Given the description of an element on the screen output the (x, y) to click on. 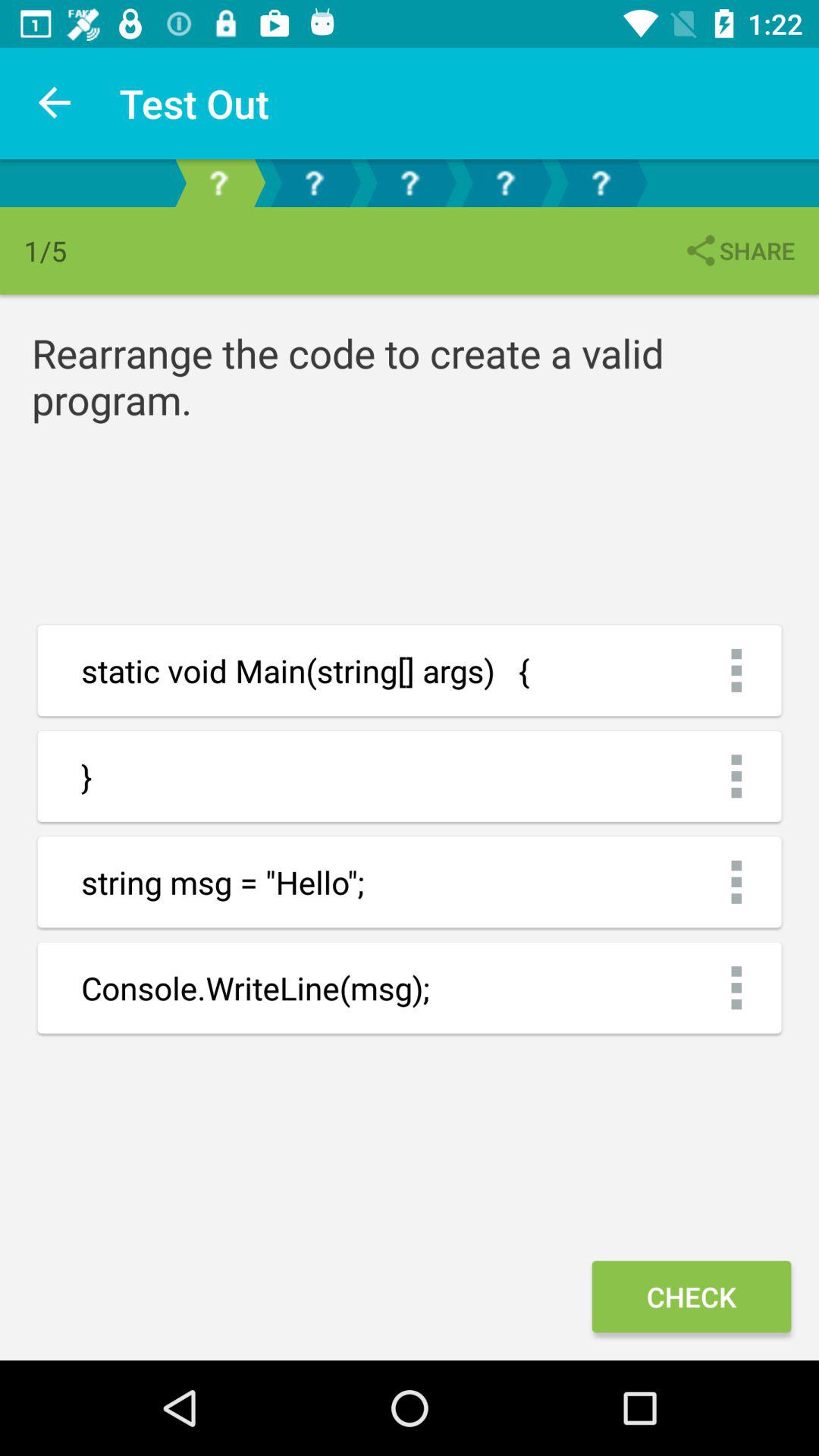
page 4 (504, 183)
